Given the description of an element on the screen output the (x, y) to click on. 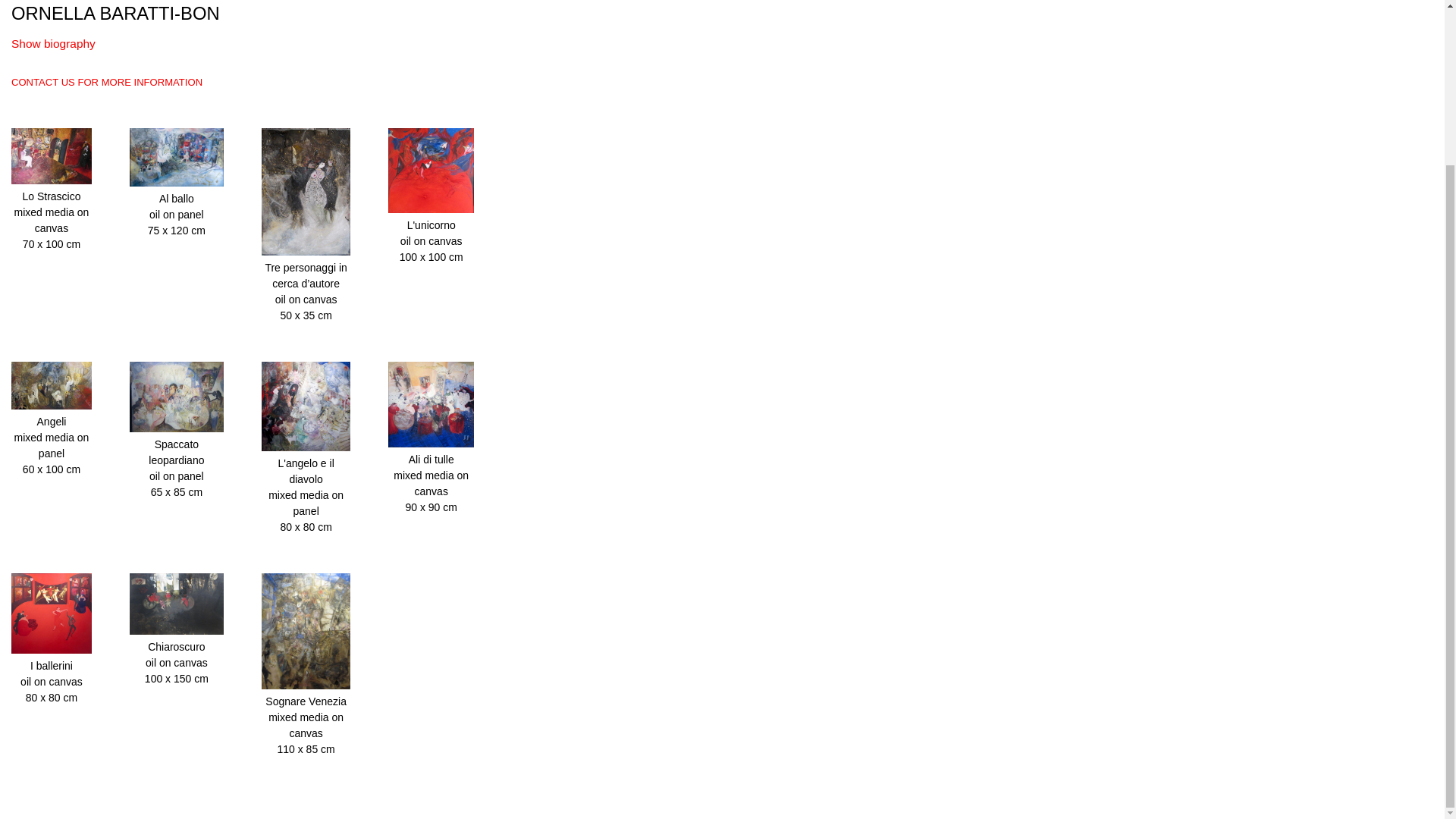
CONTACT US FOR MORE INFORMATION (106, 81)
Ornella Baratti Bon - Spaccato leopardiano - 65 x 85 (176, 428)
Ornella Baratti Bon - L'unicorno - 100 x 100 (431, 209)
Ornella Baratti Bon - Angeli - 60 x 100 (51, 405)
Ornella Baratti Bon - Ali di tulle - 90 x 90 (431, 443)
Ornella Baratti Bon - Al ballo - 75 x 120 (176, 182)
Show biography (53, 42)
Ornella Baratt Bon - Lo Strascico - 70 x 100 cm (51, 180)
Ornella Baratti Bon - L'angelo e il diavolo - 80 x 80 (306, 447)
